Given the description of an element on the screen output the (x, y) to click on. 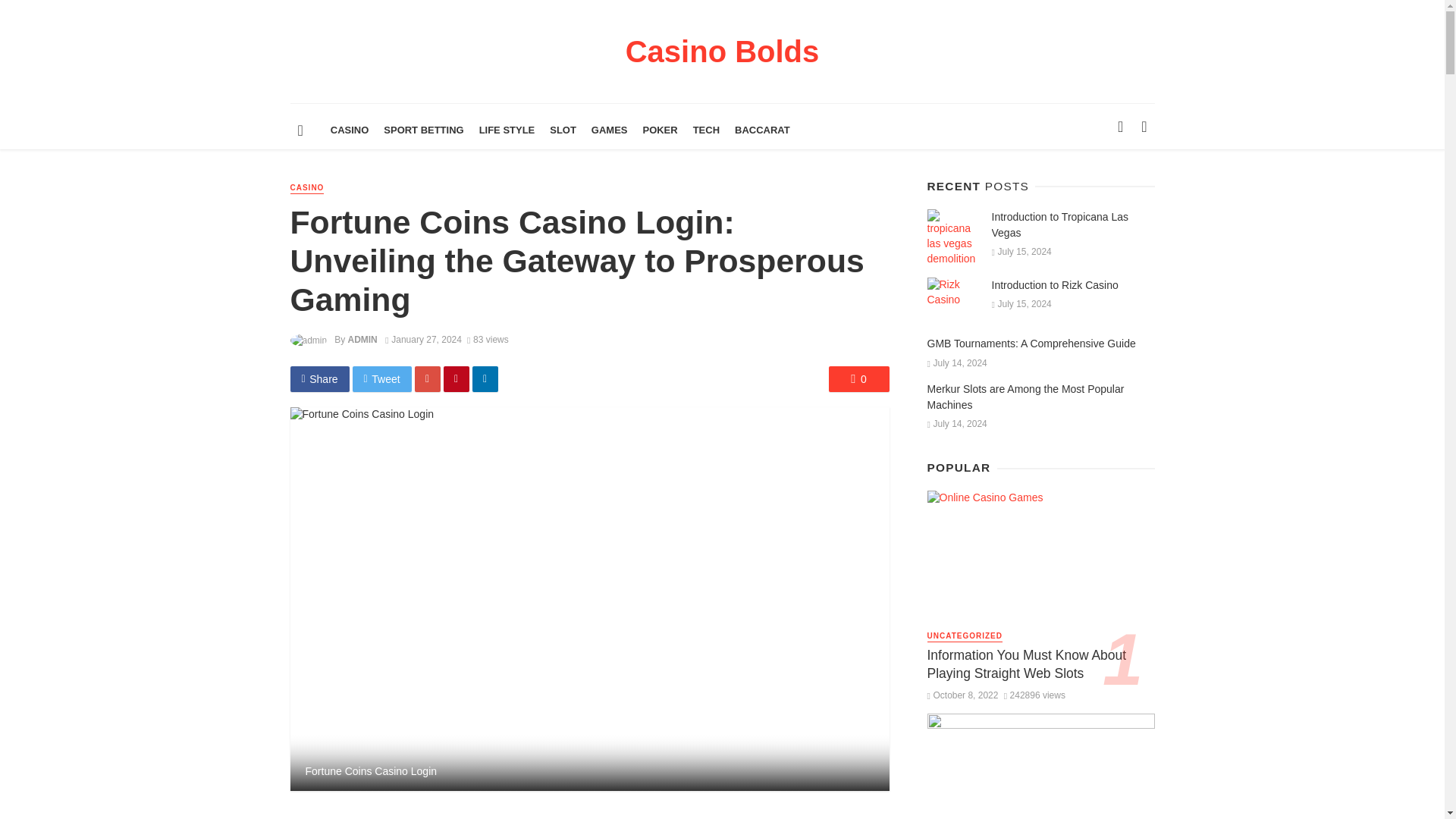
CASINO (306, 188)
Casino Bolds (722, 58)
ADMIN (362, 339)
0 (858, 379)
BACCARAT (761, 130)
Posts by admin (362, 339)
LIFE STYLE (507, 130)
TECH (705, 130)
SPORT BETTING (422, 130)
Share (319, 379)
Tweet (382, 379)
GAMES (608, 130)
POKER (659, 130)
January 27, 2024 at 4:31 pm (423, 339)
SLOT (562, 130)
